Given the description of an element on the screen output the (x, y) to click on. 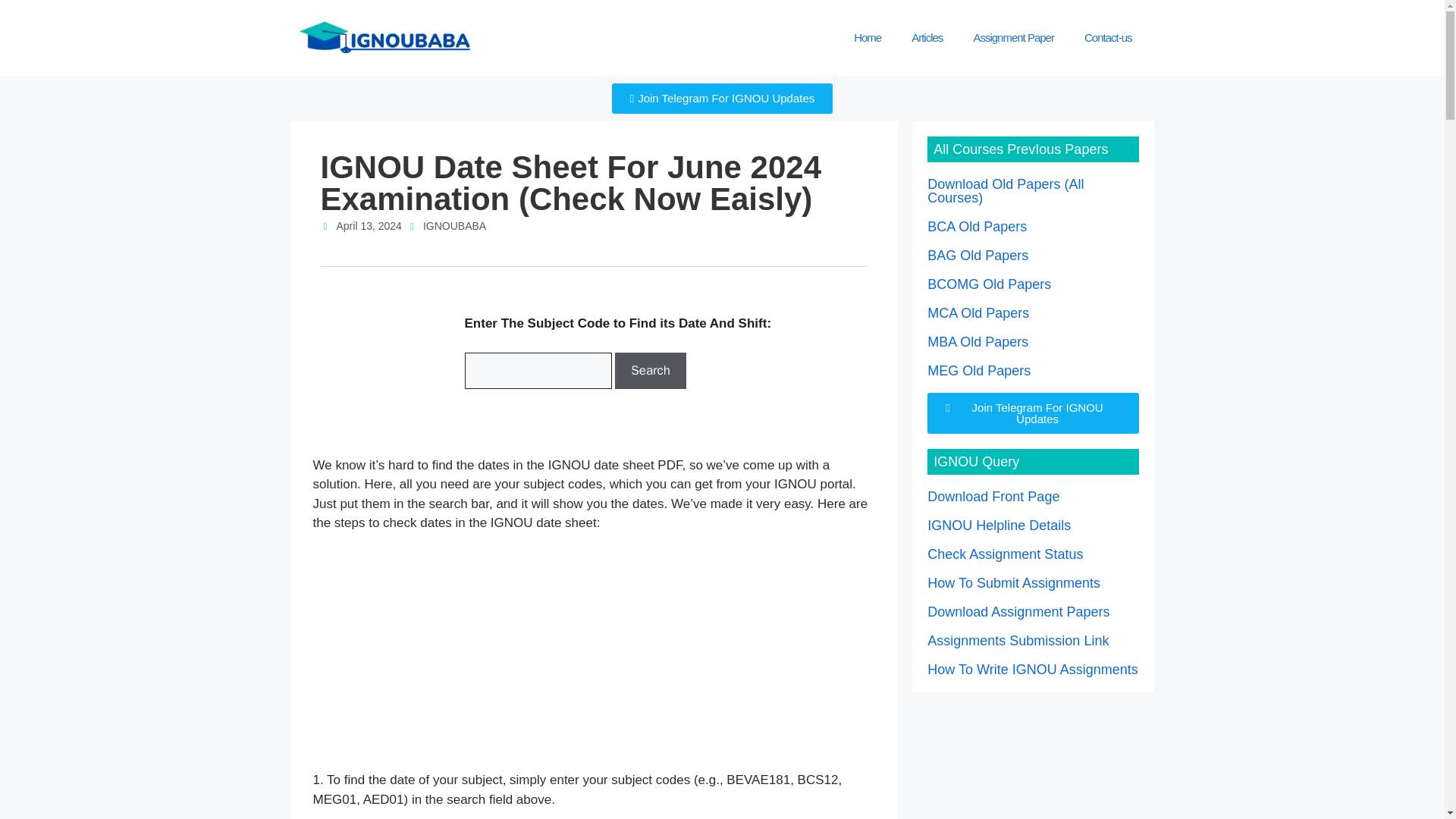
BCOMG Old Papers (989, 283)
IGNOU Query (976, 461)
IGNOU Helpline Details (998, 525)
Advertisement (594, 658)
MCA Old Papers (978, 313)
Contact-us (1107, 37)
Check Assignment Status (1005, 554)
Join Telegram For IGNOU Updates (1032, 413)
Join Telegram For IGNOU Updates (721, 98)
IGNOUBABA (448, 226)
How To Submit Assignments (1013, 582)
Articles (927, 37)
BAG Old Papers (977, 255)
Advertisement (1033, 759)
MEG Old Papers (978, 370)
